Given the description of an element on the screen output the (x, y) to click on. 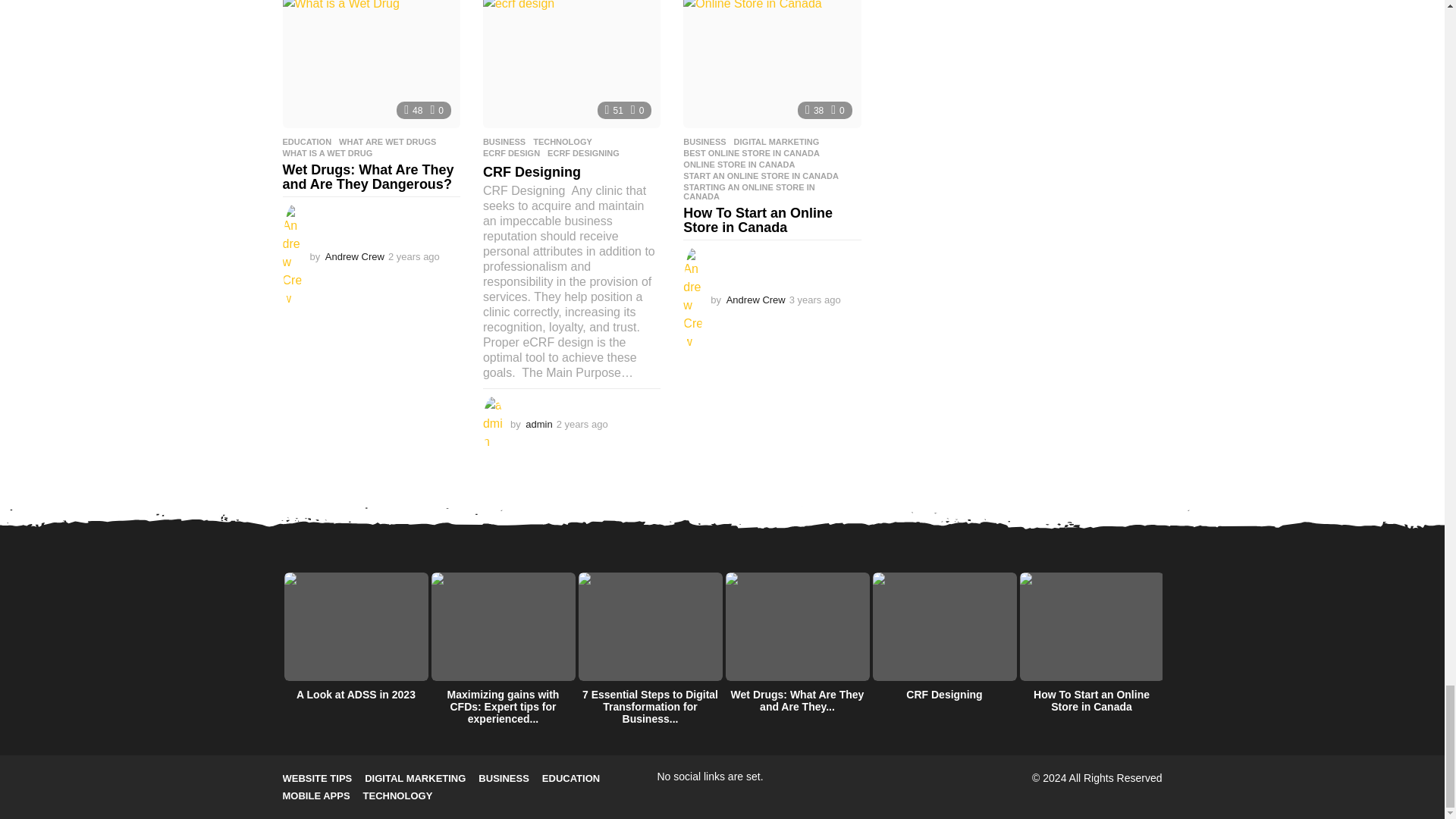
How To Start an Online Store in Canada (771, 63)
Wet Drugs: What Are They and Are They Dangerous? (371, 63)
CRF Designing (572, 63)
